Given the description of an element on the screen output the (x, y) to click on. 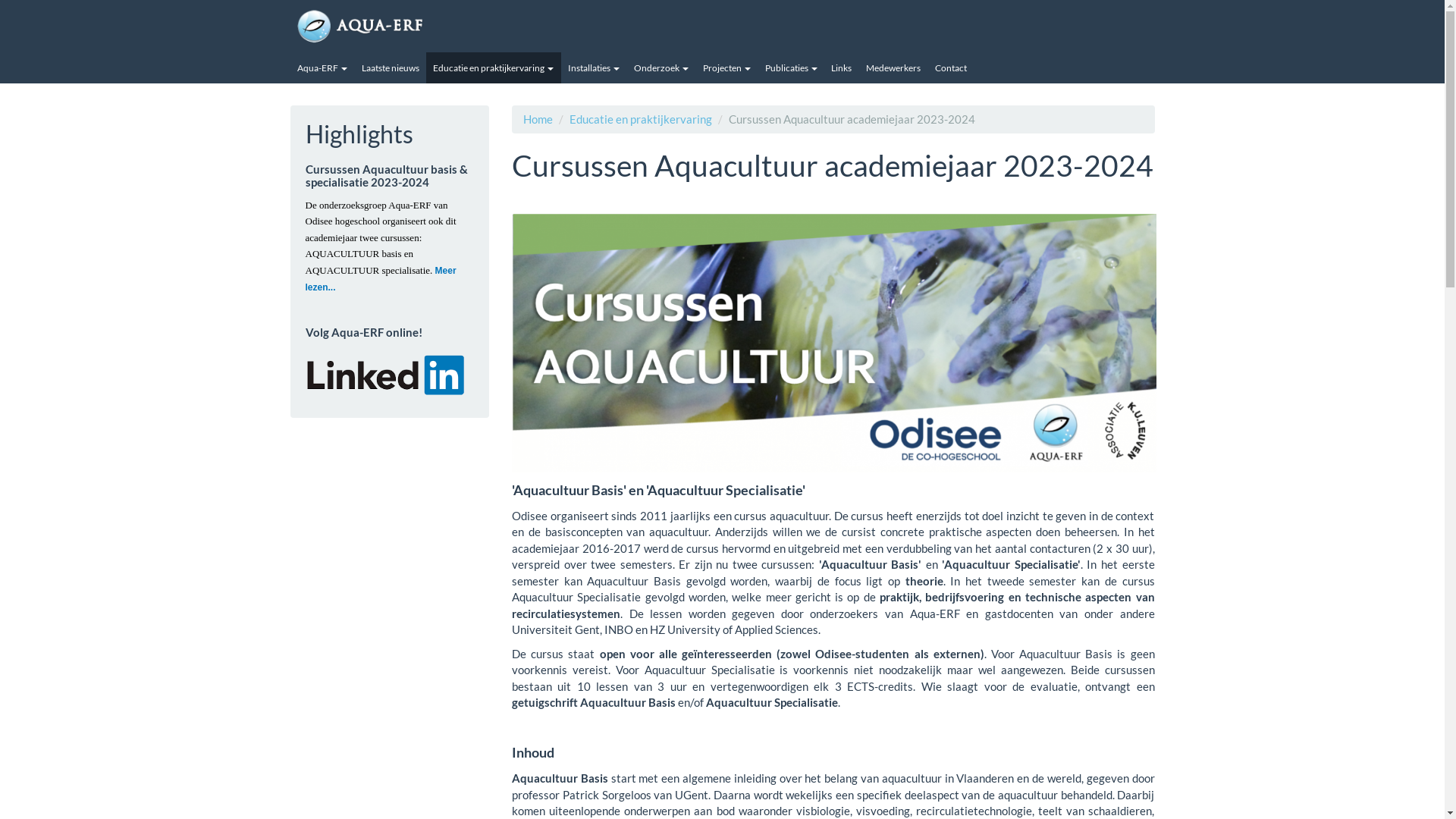
Overslaan en naar de algemene inhoud gaan Element type: text (0, 48)
Laatste nieuws Element type: text (390, 67)
Aqua-ERF Element type: text (321, 67)
Onderzoek Element type: text (661, 67)
Meer lezen... Element type: text (379, 278)
Home Element type: hover (460, 26)
Publicaties Element type: text (790, 67)
Medewerkers Element type: text (893, 67)
Educatie en praktijkervaring Element type: text (493, 67)
Projecten Element type: text (726, 67)
Educatie en praktijkervaring Element type: text (640, 118)
Installaties Element type: text (594, 67)
Home Element type: text (537, 118)
Contact Element type: text (951, 67)
Links Element type: text (841, 67)
